Given the description of an element on the screen output the (x, y) to click on. 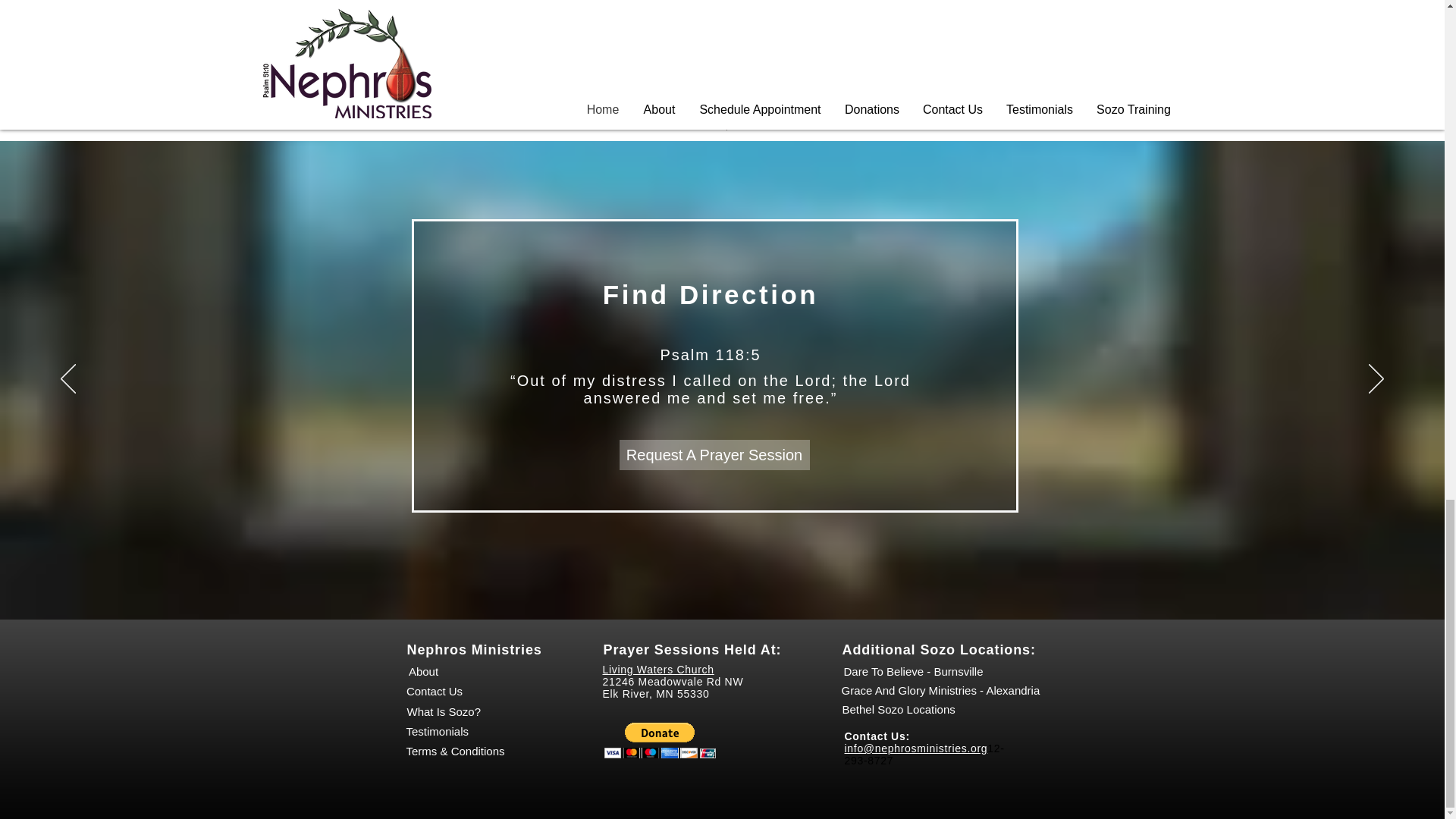
Dare To Believe - Burnsville (913, 671)
Elk River, MN 55330 (655, 693)
Request A Prayer Session (713, 454)
Bethel Sozo Locations (898, 709)
About (422, 671)
Grace And Glory Ministries - Alexandria (941, 690)
Testimonials (437, 730)
Contact Us:  (879, 736)
Living Waters Church (657, 669)
What Is Sozo? (443, 710)
Contact Us (434, 690)
